Given the description of an element on the screen output the (x, y) to click on. 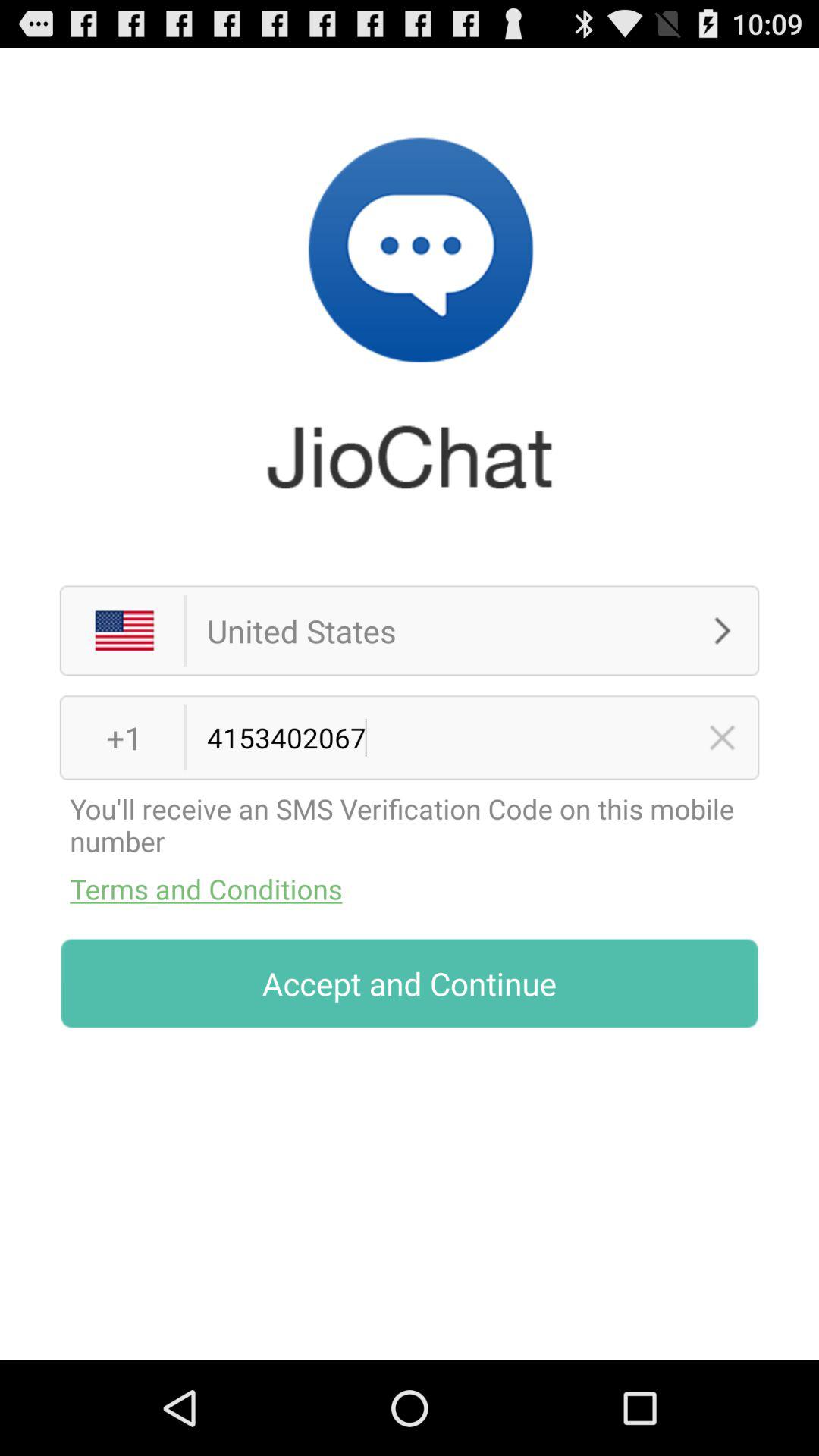
delete number information (722, 737)
